Given the description of an element on the screen output the (x, y) to click on. 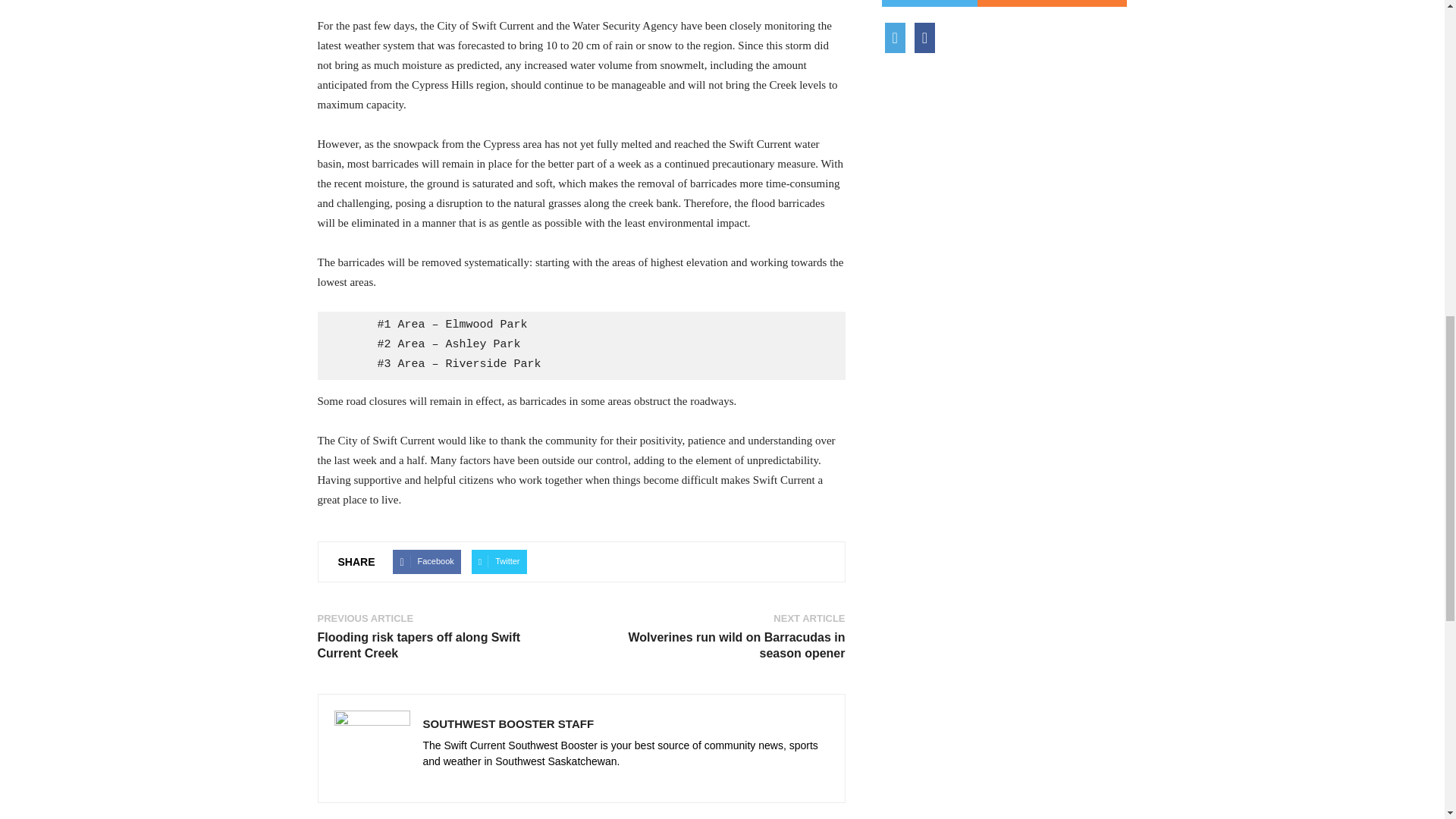
Facebook (426, 561)
Wolverines run wild on Barracudas in season opener (721, 644)
SOUTHWEST BOOSTER STAFF (508, 723)
Flooding risk tapers off along Swift Current Creek (439, 644)
Twitter (499, 561)
